Given the description of an element on the screen output the (x, y) to click on. 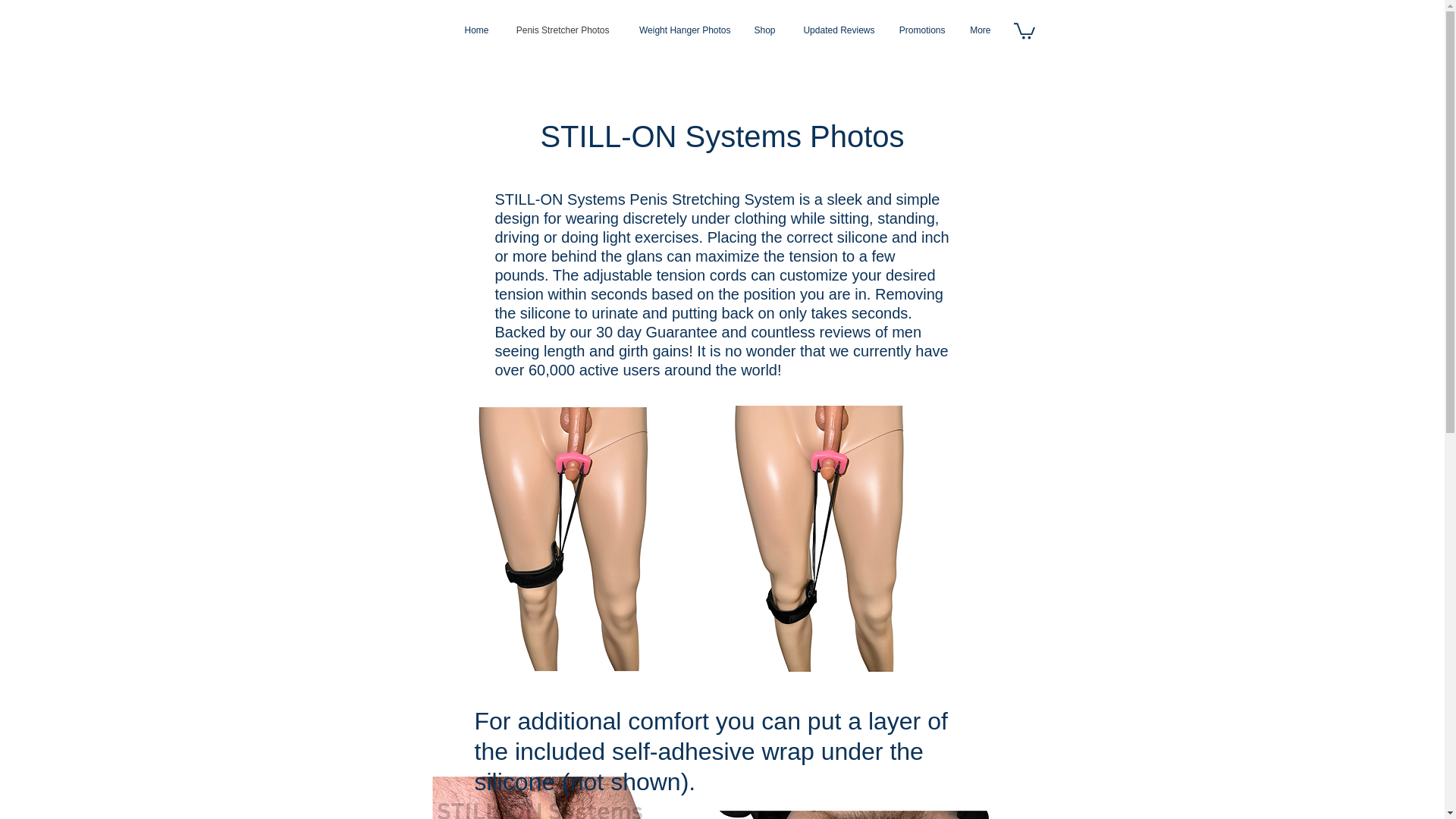
Promotions (920, 29)
Weight Hanger Photos (680, 29)
Home (475, 29)
Penis Stretcher Photos (560, 29)
Shop (763, 29)
Updated Reviews (836, 29)
